Given the description of an element on the screen output the (x, y) to click on. 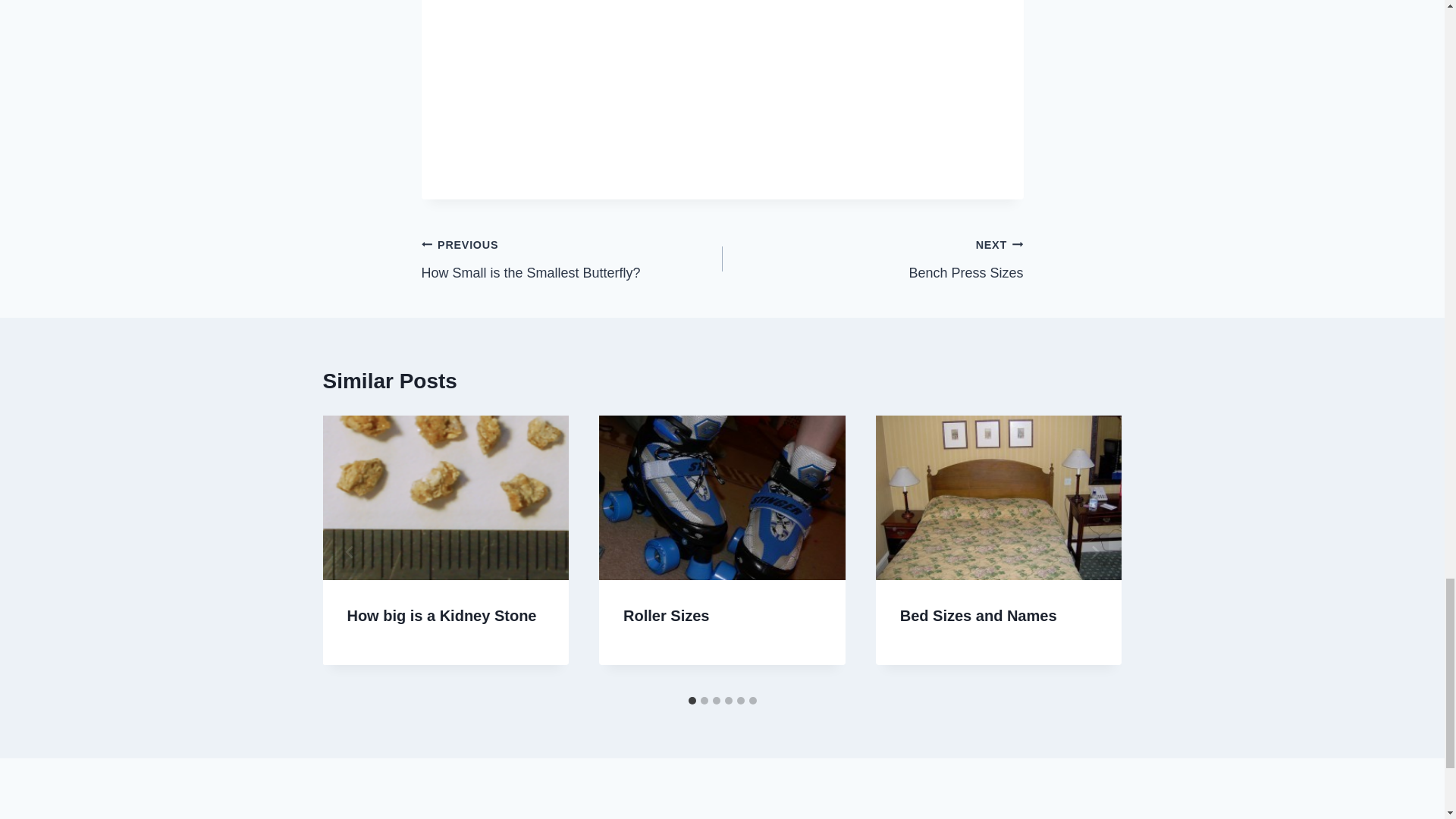
Advertisement (721, 81)
